Given the description of an element on the screen output the (x, y) to click on. 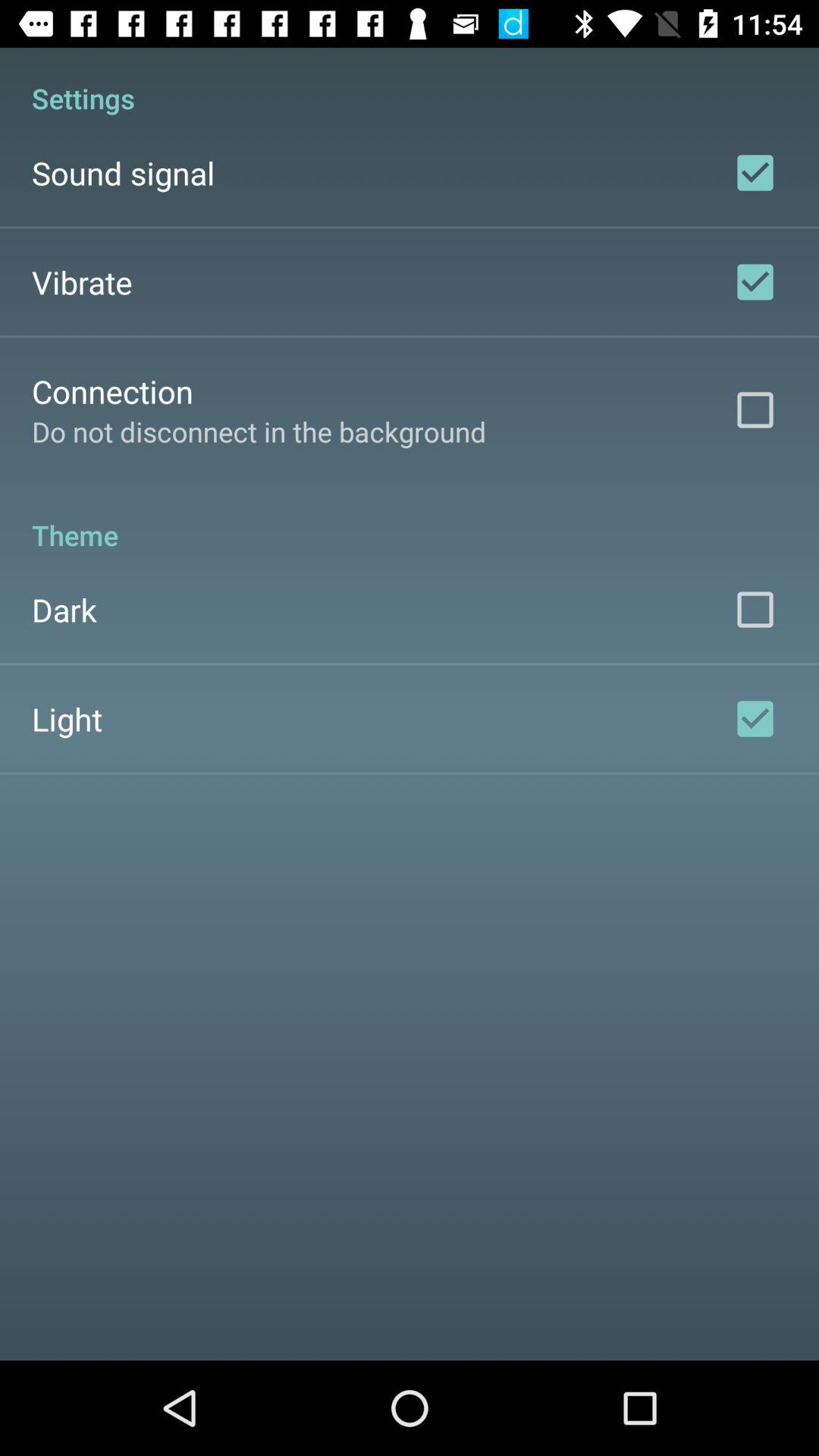
launch the light icon (66, 718)
